Given the description of an element on the screen output the (x, y) to click on. 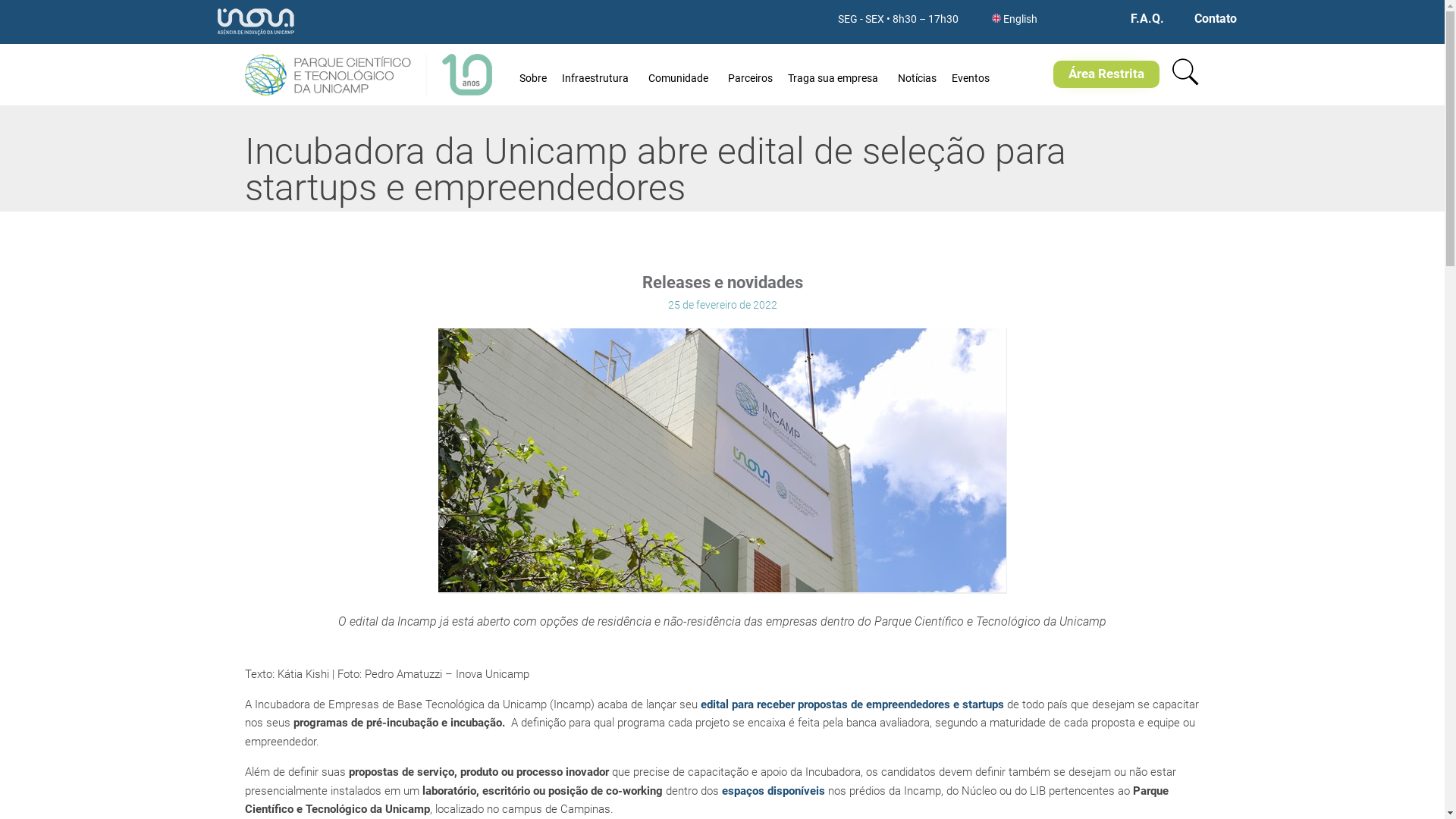
INV_marca_2019_mono-negativa Element type: hover (255, 36)
edital para receber propostas de empreendedores e startups Element type: text (852, 704)
F.A.Q. Element type: text (1147, 18)
Sobre Element type: text (532, 73)
INV_marca_2019_mono-negativa Element type: hover (255, 21)
Parceiros Element type: text (750, 73)
English Element type: text (1020, 18)
Traga sua empresa Element type: text (835, 73)
Comunidade Element type: text (680, 73)
Releases e novidades Element type: text (721, 283)
Contato Element type: text (1215, 18)
Eventos Element type: text (970, 73)
Skip to content Element type: text (1028, 43)
Infraestrutura Element type: text (597, 73)
